Given the description of an element on the screen output the (x, y) to click on. 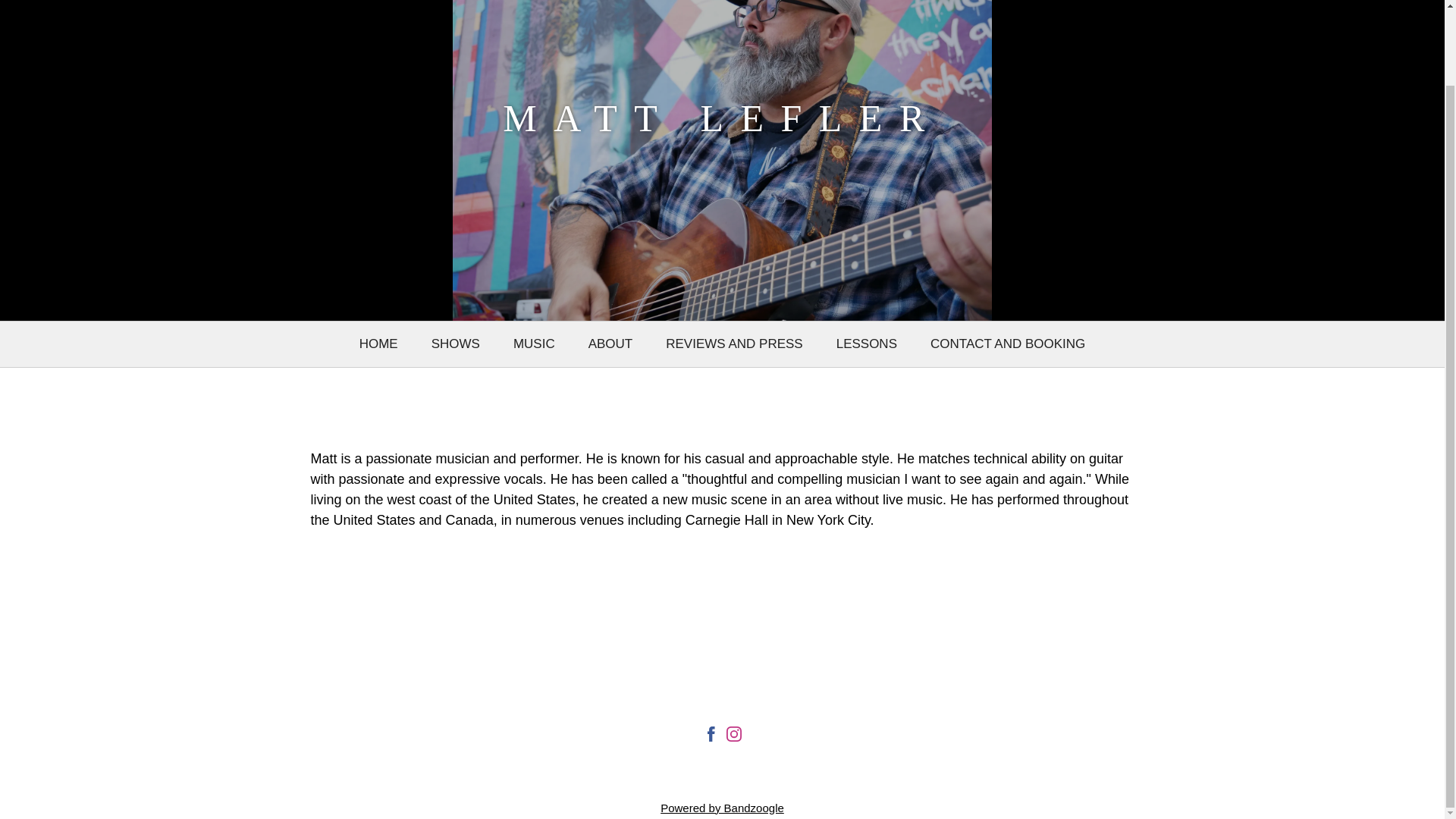
LESSONS (867, 343)
MUSIC (533, 343)
ABOUT (610, 343)
Powered by Bandzoogle (722, 807)
REVIEWS AND PRESS (733, 343)
SHOWS (456, 343)
Powered by Bandzoogle (722, 807)
CONTACT AND BOOKING (1007, 343)
MATT LEFLER (722, 123)
HOME (378, 343)
